Given the description of an element on the screen output the (x, y) to click on. 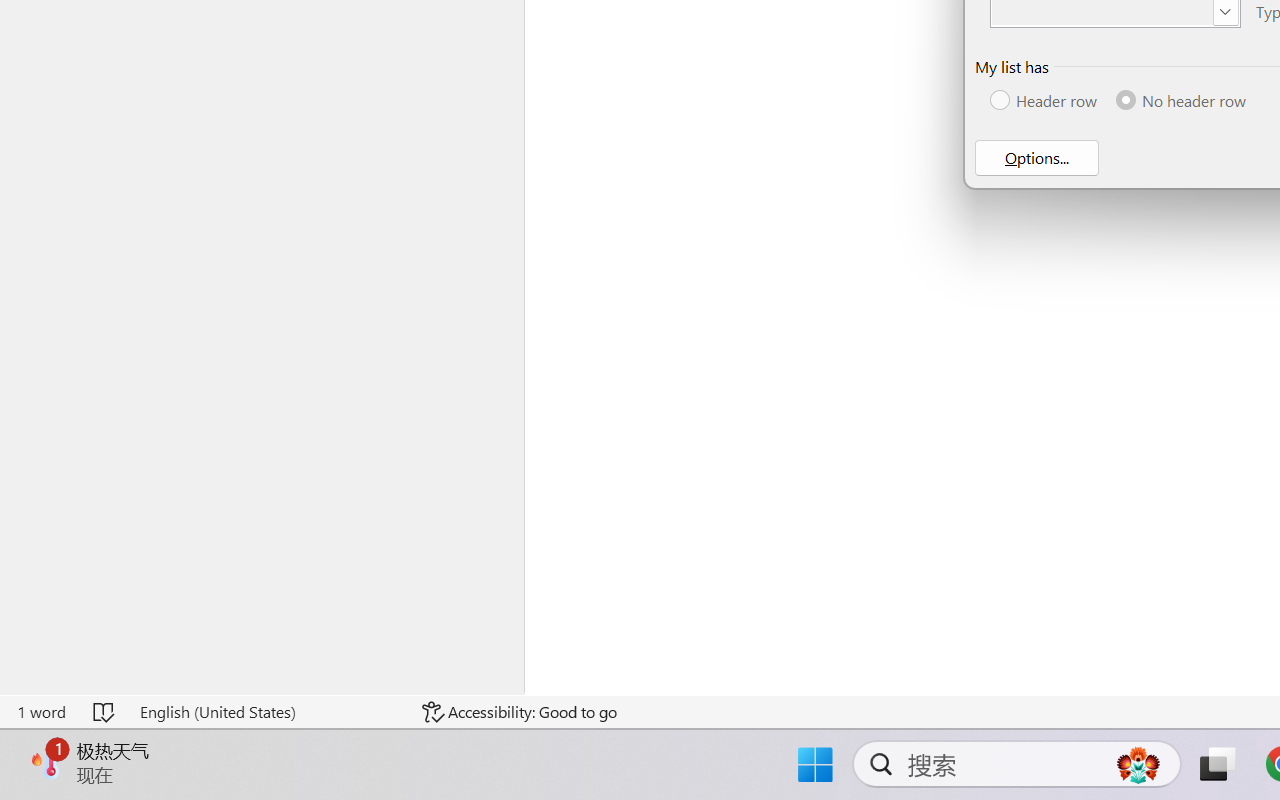
Accessibility Checker Accessibility: Good to go (519, 712)
AutomationID: BadgeAnchorLargeTicker (46, 762)
Language English (United States) (267, 712)
Word Count 1 word (41, 712)
Spelling and Grammar Check No Errors (105, 712)
No header row (1183, 100)
Header row (1044, 100)
AutomationID: DynamicSearchBoxGleamImage (1138, 764)
Options... (1036, 157)
